Given the description of an element on the screen output the (x, y) to click on. 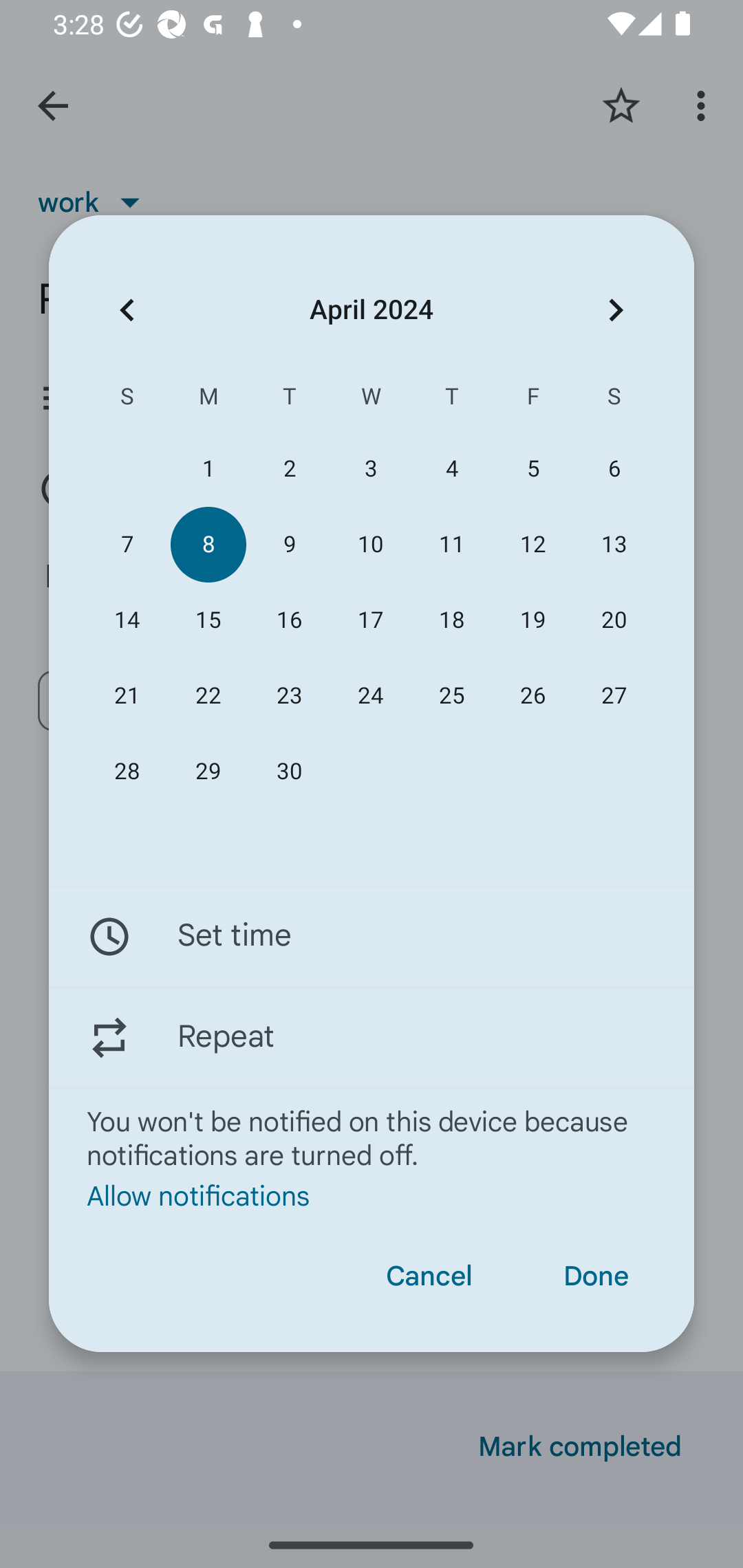
Previous month (126, 309)
Next month (615, 309)
1 01 April 2024 (207, 468)
2 02 April 2024 (288, 468)
3 03 April 2024 (370, 468)
4 04 April 2024 (451, 468)
5 05 April 2024 (532, 468)
6 06 April 2024 (613, 468)
7 07 April 2024 (126, 543)
8 08 April 2024 (207, 543)
9 09 April 2024 (288, 543)
10 10 April 2024 (370, 543)
11 11 April 2024 (451, 543)
12 12 April 2024 (532, 543)
13 13 April 2024 (613, 543)
14 14 April 2024 (126, 619)
15 15 April 2024 (207, 619)
16 16 April 2024 (288, 619)
17 17 April 2024 (370, 619)
18 18 April 2024 (451, 619)
19 19 April 2024 (532, 619)
20 20 April 2024 (613, 619)
21 21 April 2024 (126, 695)
22 22 April 2024 (207, 695)
23 23 April 2024 (288, 695)
24 24 April 2024 (370, 695)
25 25 April 2024 (451, 695)
26 26 April 2024 (532, 695)
27 27 April 2024 (613, 695)
28 28 April 2024 (126, 771)
29 29 April 2024 (207, 771)
30 30 April 2024 (288, 771)
Set time (371, 936)
Repeat (371, 1036)
Allow notifications (371, 1195)
Cancel (429, 1275)
Done (595, 1275)
